Given the description of an element on the screen output the (x, y) to click on. 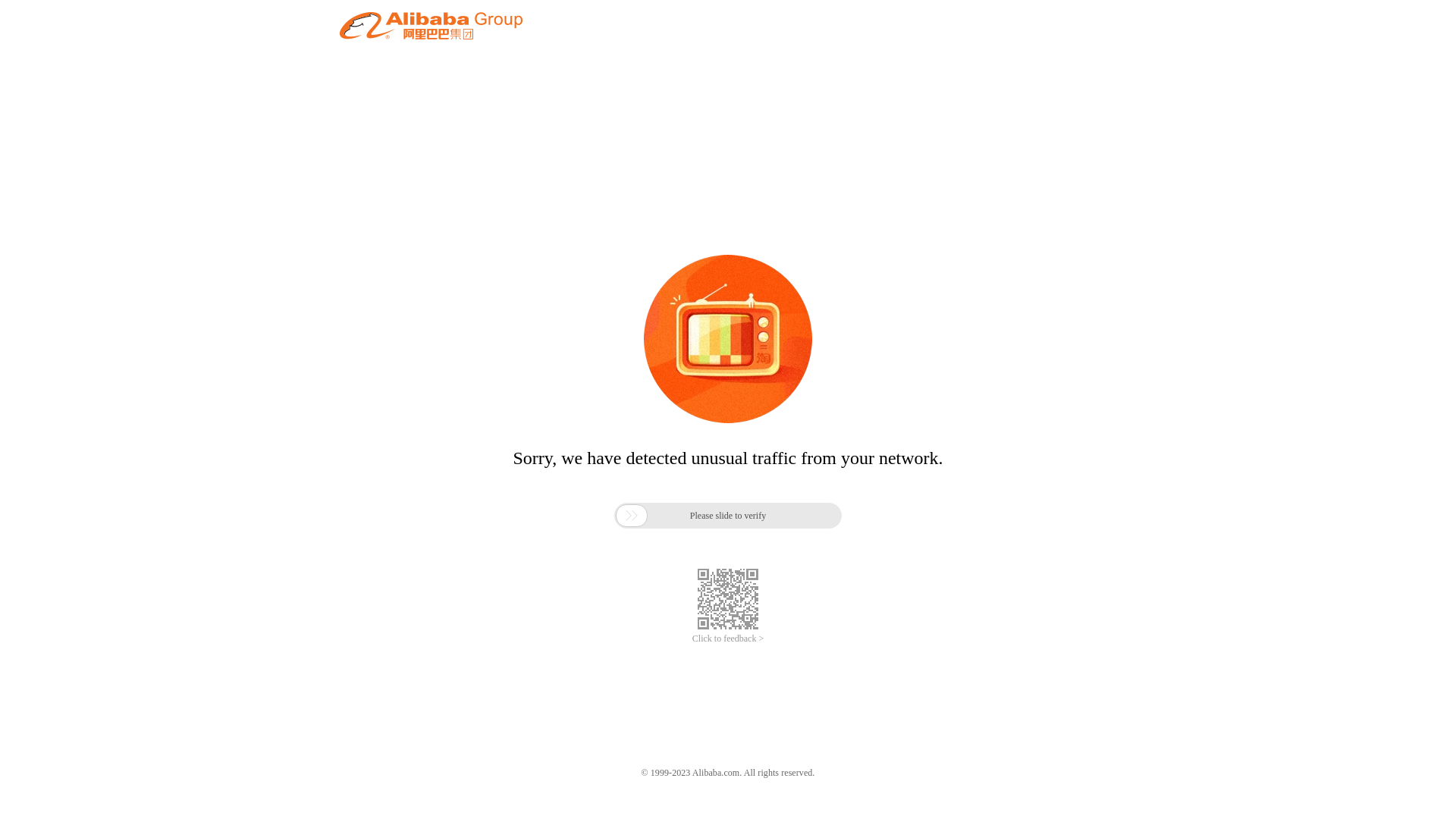
Click to feedback > Element type: text (727, 638)
